Given the description of an element on the screen output the (x, y) to click on. 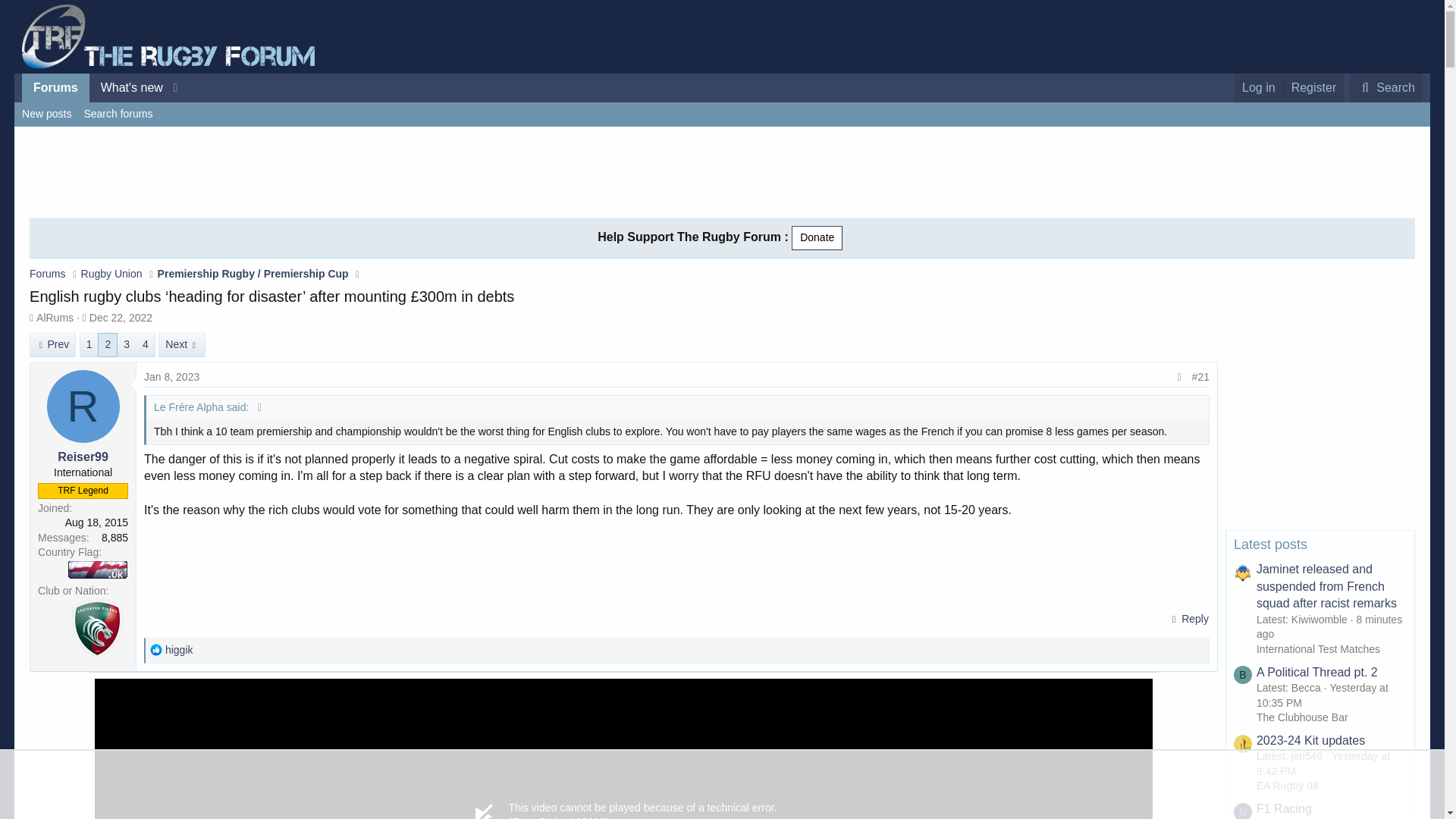
New posts (46, 114)
Dec 22, 2022 (120, 317)
Forums (54, 87)
Search (1385, 87)
What's new (126, 87)
Dec 22, 2022 at 8:24 PM (120, 317)
Rugby Union (111, 273)
Like (155, 649)
Reply, quoting this message (1188, 619)
Search forums (117, 114)
Register (1312, 87)
Forums (47, 273)
Jan 8, 2023 at 6:35 AM (171, 377)
Next (181, 344)
